Given the description of an element on the screen output the (x, y) to click on. 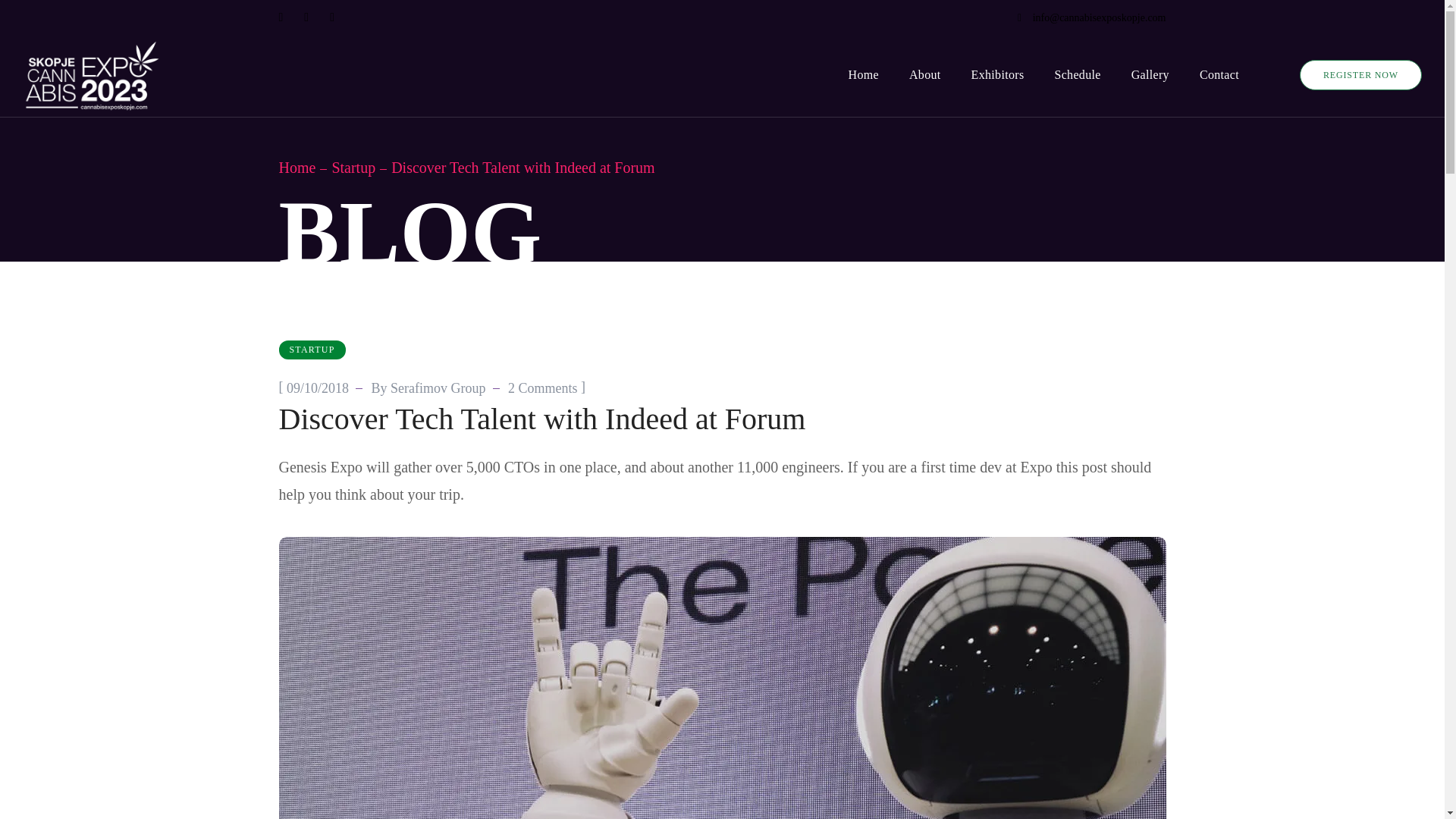
Home (297, 167)
REGISTER NOW (1361, 74)
Register Now (1361, 74)
Exhibitors (997, 75)
Schedule (1077, 75)
